Given the description of an element on the screen output the (x, y) to click on. 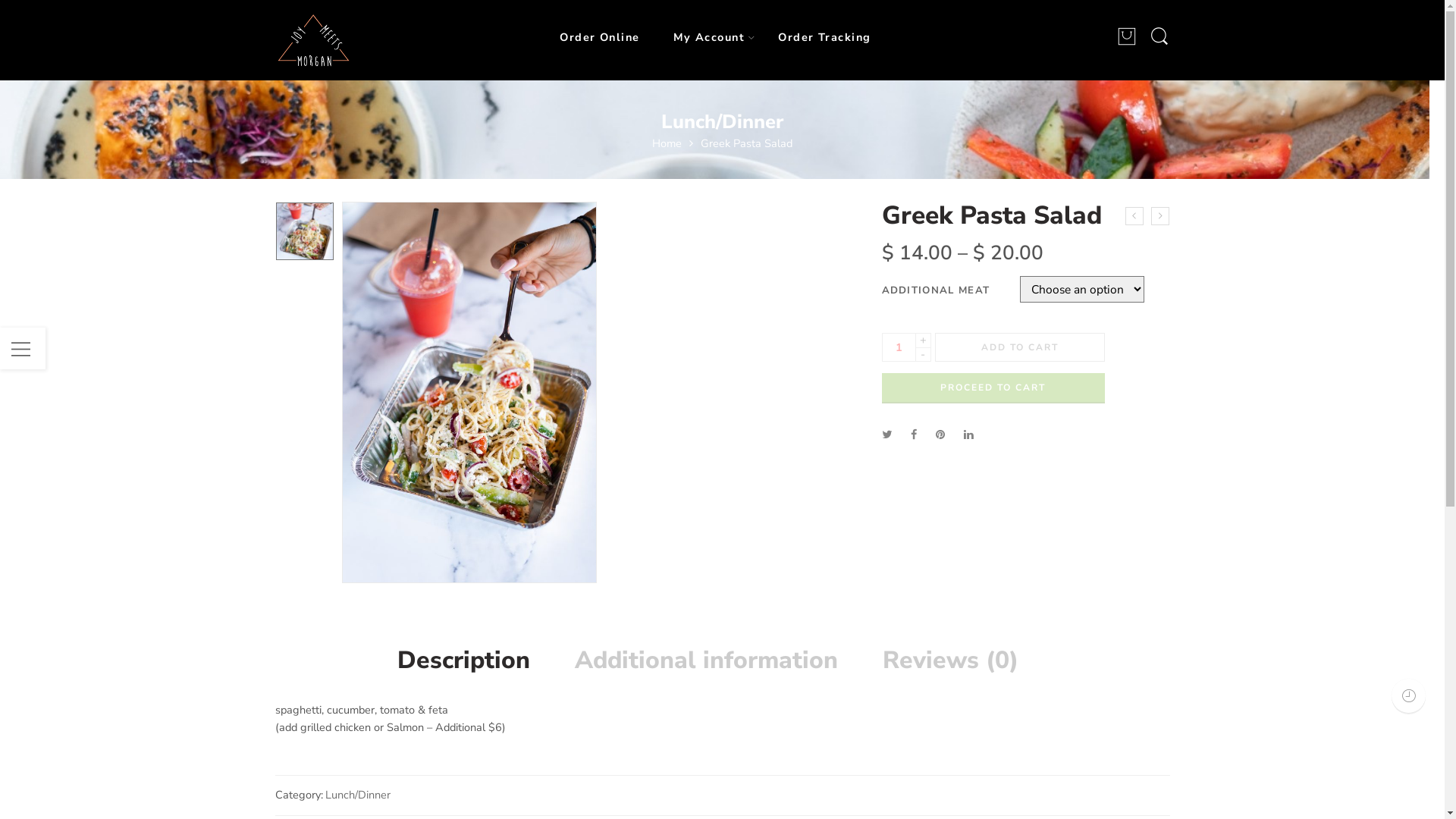
Order Online Element type: text (614, 37)
Chicken Fillet Element type: hover (1160, 216)
Pin on Pinterest Element type: hover (939, 434)
Description Element type: text (471, 660)
Home Element type: text (666, 142)
PROCEED TO CART Element type: text (992, 387)
Order Tracking Element type: text (839, 37)
Share on Twitter Element type: hover (886, 434)
Products viewed Element type: hover (1408, 695)
Lunch/Dinner Element type: text (356, 795)
ADD TO CART Element type: text (1019, 346)
Joy Meets Morgan - Online Ordering Element type: hover (312, 38)
+ Element type: text (922, 340)
Reviews (0) Element type: text (950, 660)
SIGN IN TO YOUR ACCOUNT Element type: text (722, 477)
Share on Facebook Element type: hover (913, 434)
Qty Element type: hover (898, 346)
My Account Element type: text (724, 37)
Search Element type: hover (1158, 43)
Cart Element type: hover (1126, 42)
SETUP YOUR ACCOUNT Element type: text (986, 531)
Additional information Element type: text (706, 660)
Lunch/Dinner Element type: text (722, 121)
Caesar Salad Element type: hover (1134, 216)
- Element type: text (922, 354)
Share on Linkedin Element type: hover (967, 434)
